Given the description of an element on the screen output the (x, y) to click on. 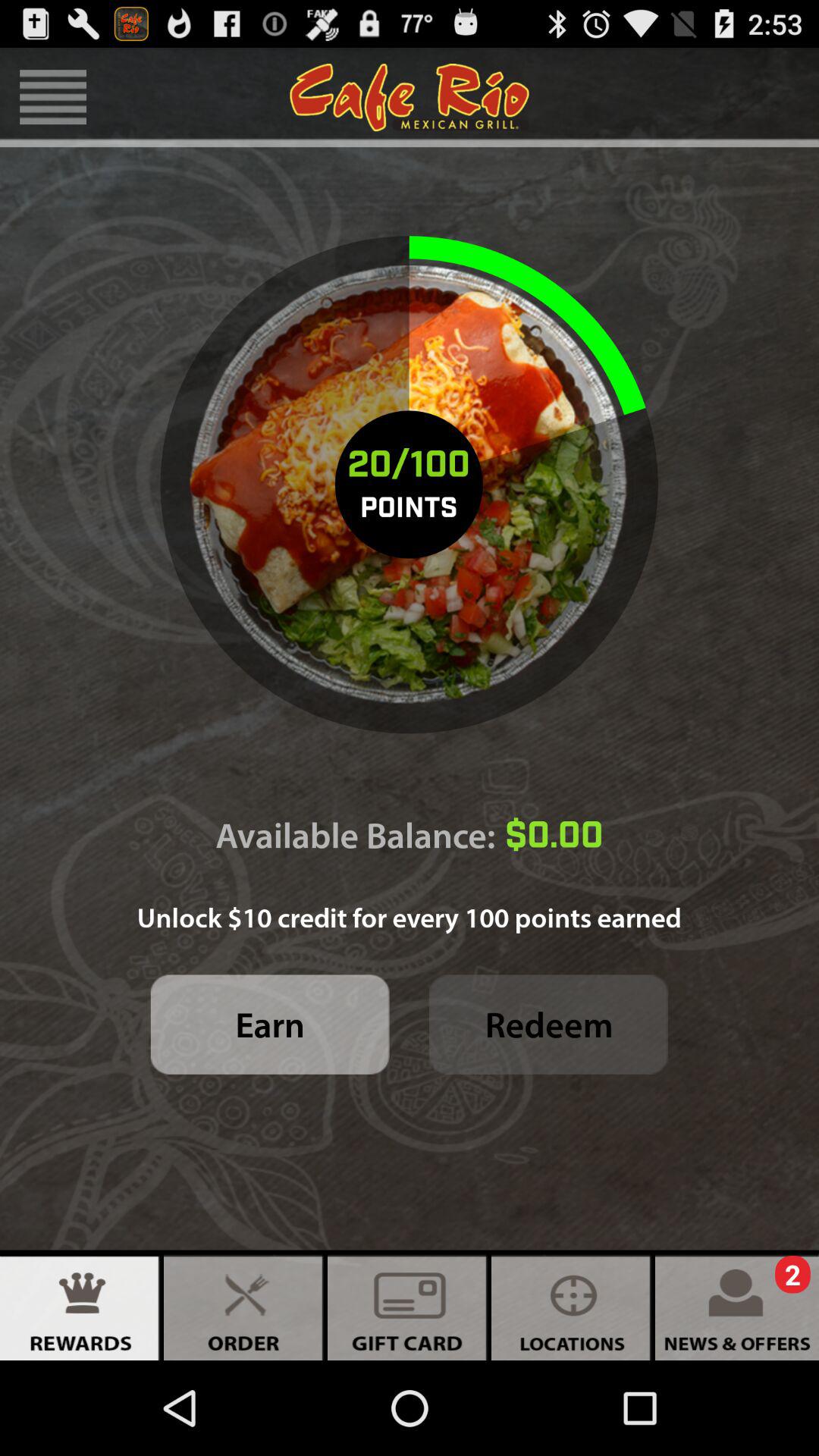
open the item next to the redeem (269, 1024)
